Given the description of an element on the screen output the (x, y) to click on. 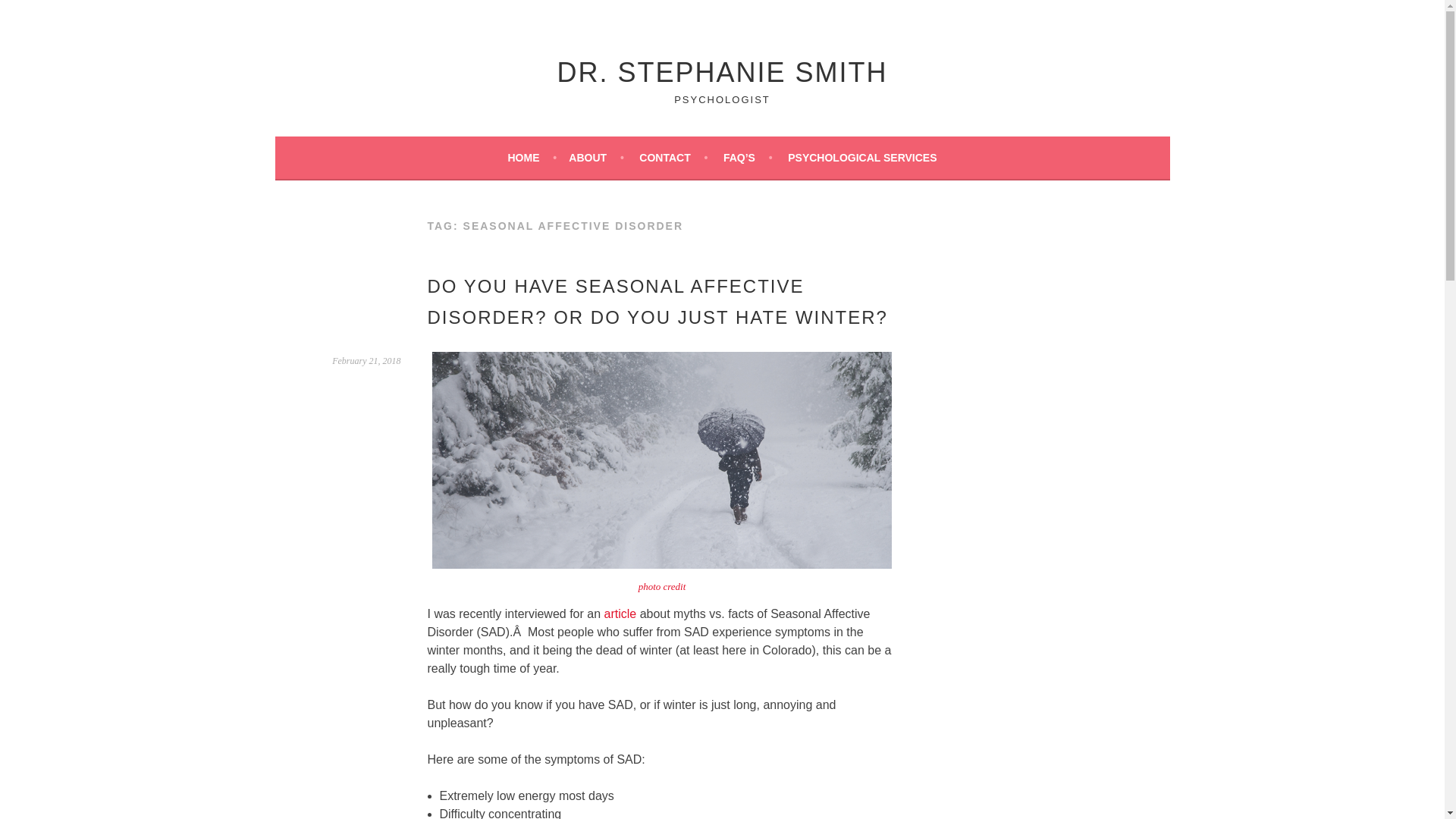
February 21, 2018 (365, 360)
Dr. Stephanie Smith (721, 71)
ABOUT (596, 157)
photo credit (662, 586)
HOME (531, 157)
DR. STEPHANIE SMITH (721, 71)
article (620, 613)
PSYCHOLOGICAL SERVICES (861, 157)
